Given the description of an element on the screen output the (x, y) to click on. 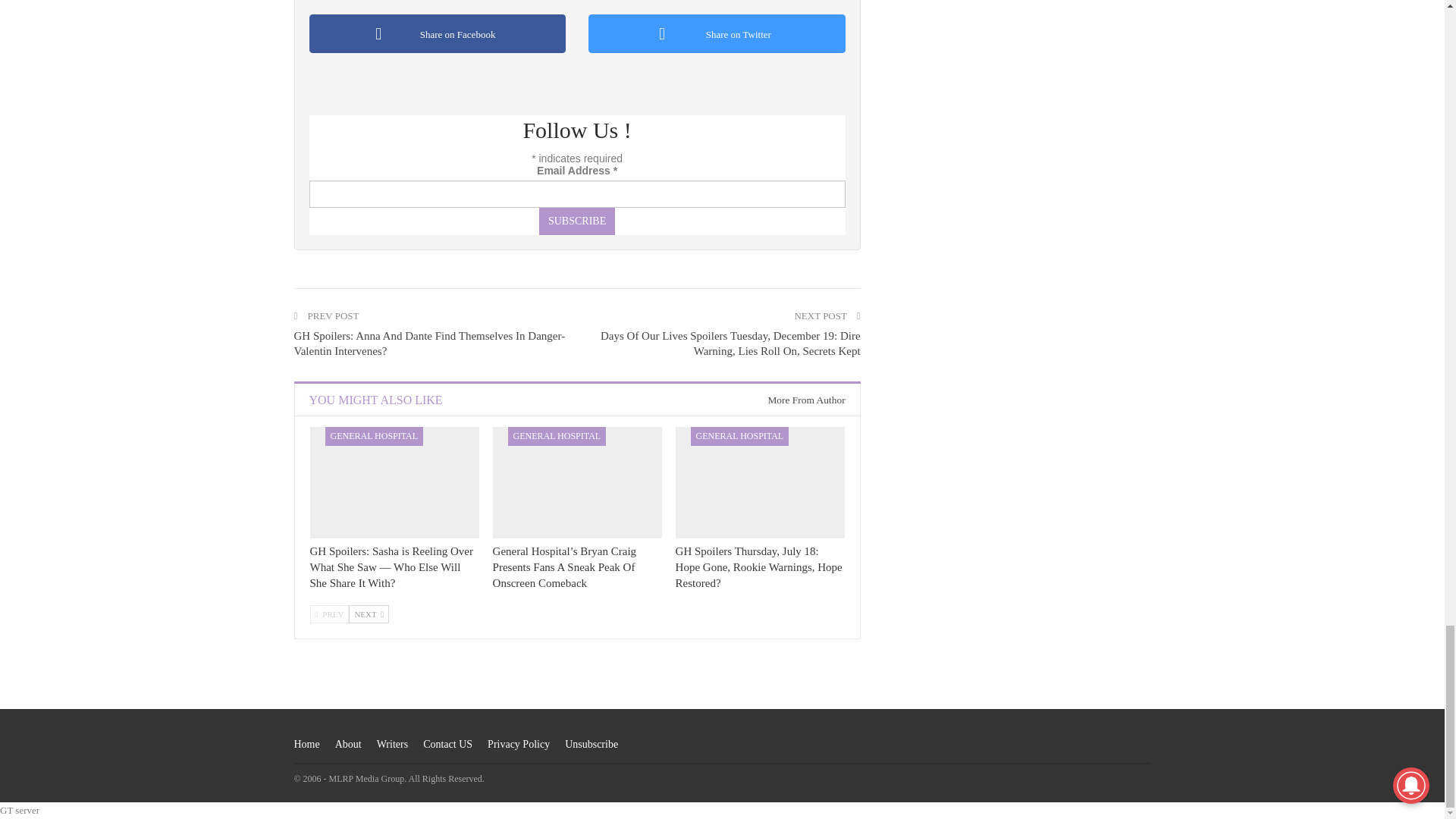
Subscribe (576, 221)
Next (368, 614)
Previous (328, 614)
